Given the description of an element on the screen output the (x, y) to click on. 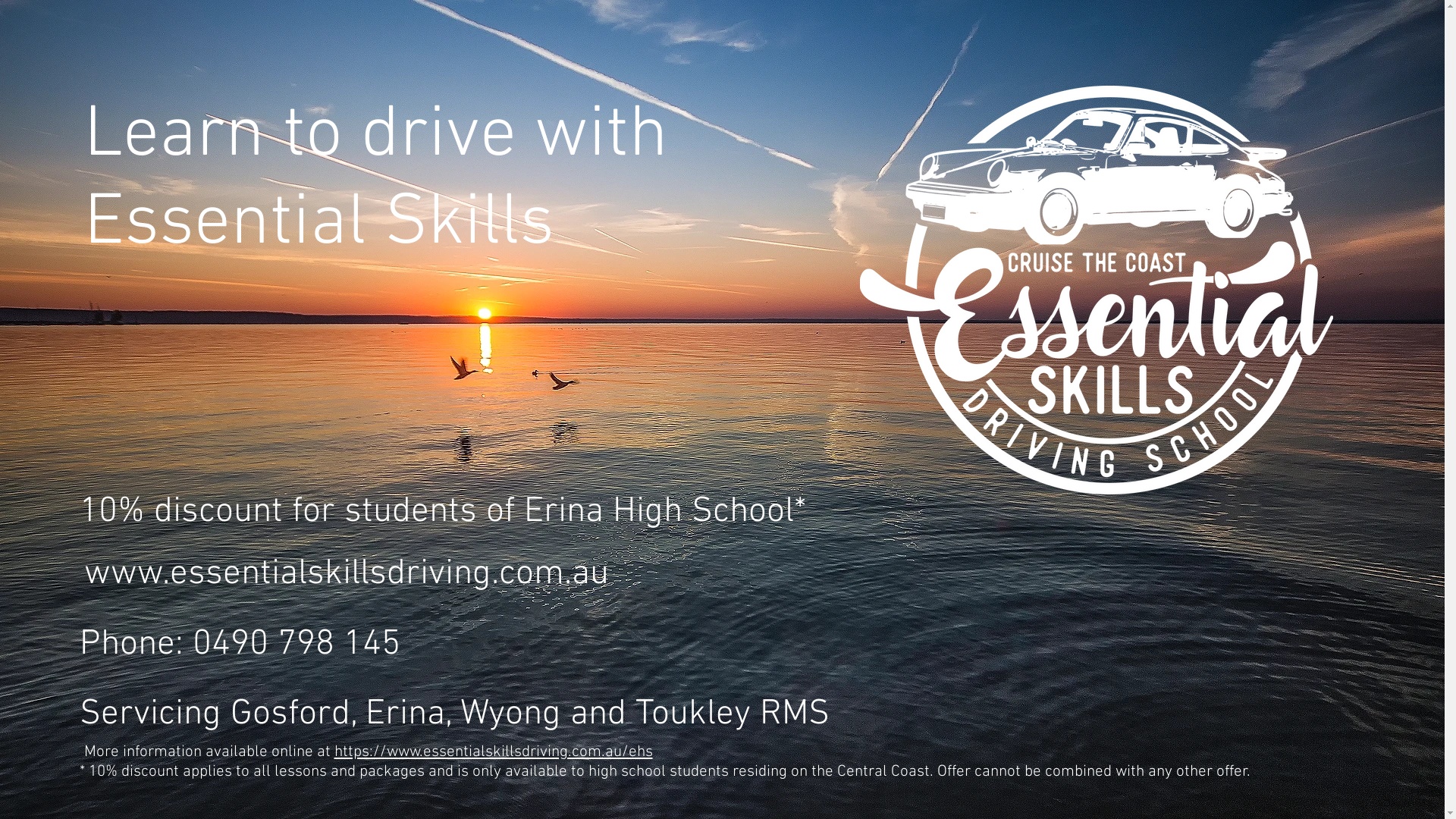
www.essentialskillsdriving.com.au Element type: text (345, 573)
https://www.essentialskillsdriving.com.au/ehs Element type: text (492, 751)
